Given the description of an element on the screen output the (x, y) to click on. 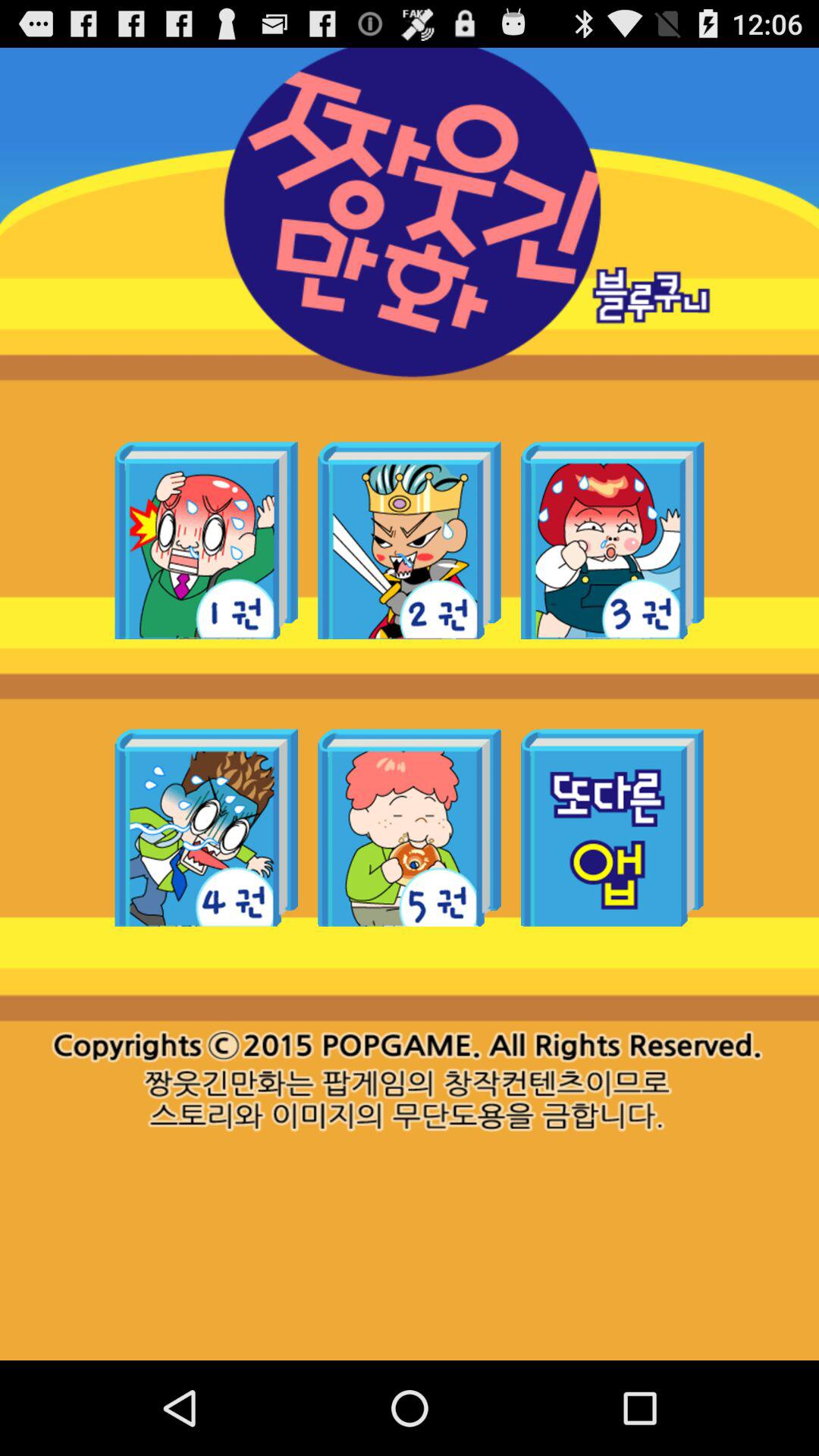
select track (409, 827)
